Given the description of an element on the screen output the (x, y) to click on. 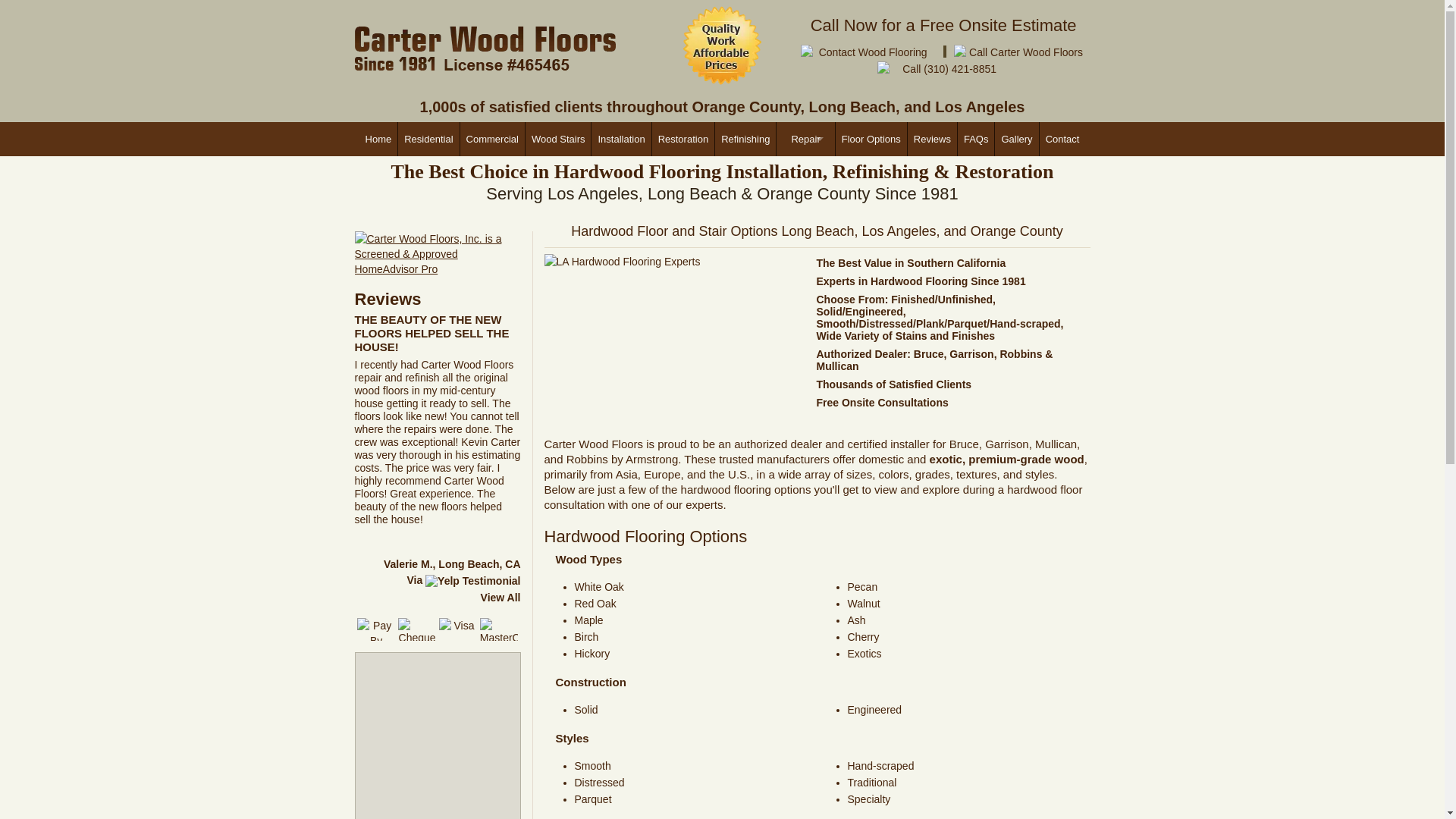
Residential (427, 139)
Commercial (492, 139)
Accept Company Check (416, 629)
Floor Options (870, 139)
Cash Payment Option (375, 629)
View All (500, 597)
Wood Stairs (557, 139)
Restoration (682, 139)
Carter Wood Floors (485, 48)
Repair (805, 139)
